Given the description of an element on the screen output the (x, y) to click on. 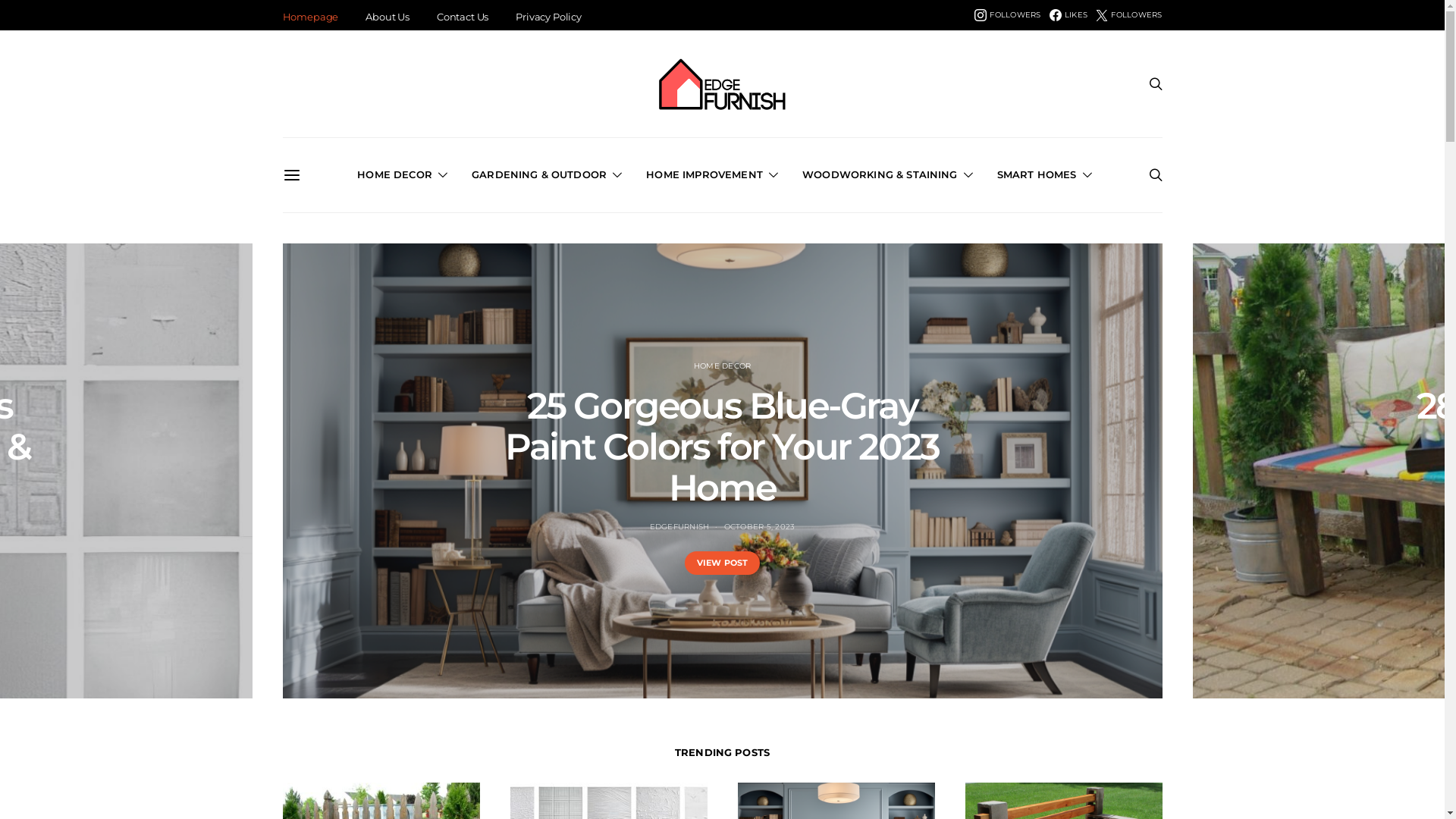
HOME DECOR Element type: text (645, 365)
EDGEFURNISH Element type: text (679, 526)
FOLLOWERS Element type: text (1007, 15)
INTERIOR DESIGN Element type: text (720, 365)
Privacy Policy Element type: text (548, 17)
SMART HOMES Element type: text (1044, 175)
Contact Us Element type: text (462, 17)
LIKES Element type: text (1068, 15)
HOME IMPROVEMENT Element type: text (712, 175)
WOODWORKING & STAINING Element type: text (887, 175)
GARDENING & OUTDOOR Element type: text (546, 175)
PAINT COLORS Element type: text (797, 365)
FOLLOWERS Element type: text (1128, 15)
About Us Element type: text (387, 17)
VIEW POST Element type: text (721, 562)
15 Ceiling Texture Types Explained for 2023: Pros & Cons Element type: text (722, 446)
OCTOBER 5, 2023 Element type: text (759, 526)
HOME DECOR Element type: text (402, 175)
Homepage Element type: text (310, 17)
